Given the description of an element on the screen output the (x, y) to click on. 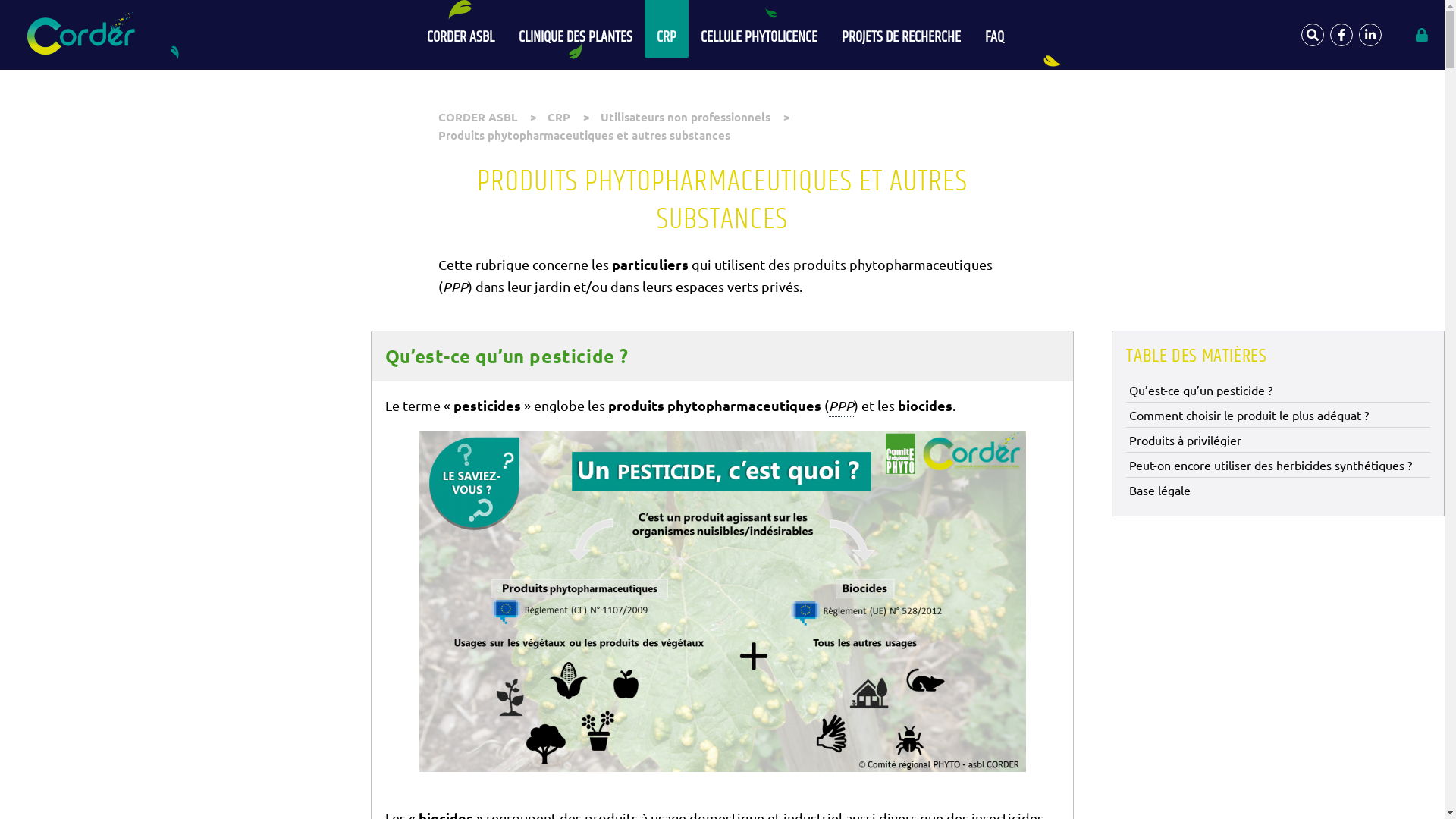
CORDER ASBL Element type: text (460, 28)
Utilisateurs non professionnels Element type: text (685, 116)
CRP Element type: text (558, 116)
CLINIQUE DES PLANTES Element type: text (575, 28)
Lien vers la page Facebook CORDER Element type: hover (1341, 34)
Produits phytopharmaceutiques et autres substances Element type: text (584, 134)
FAQ Element type: text (994, 28)
PROJETS DE RECHERCHE Element type: text (900, 28)
CELLULE PHYTOLICENCE Element type: text (758, 28)
CORDER ASBL Element type: text (477, 116)
CRP Element type: text (666, 28)
Aller au contenu principal Element type: text (0, 0)
PPP Element type: hover (840, 406)
Recherche Element type: hover (1312, 34)
Accueil CORDER ASBL Element type: hover (84, 34)
